Given the description of an element on the screen output the (x, y) to click on. 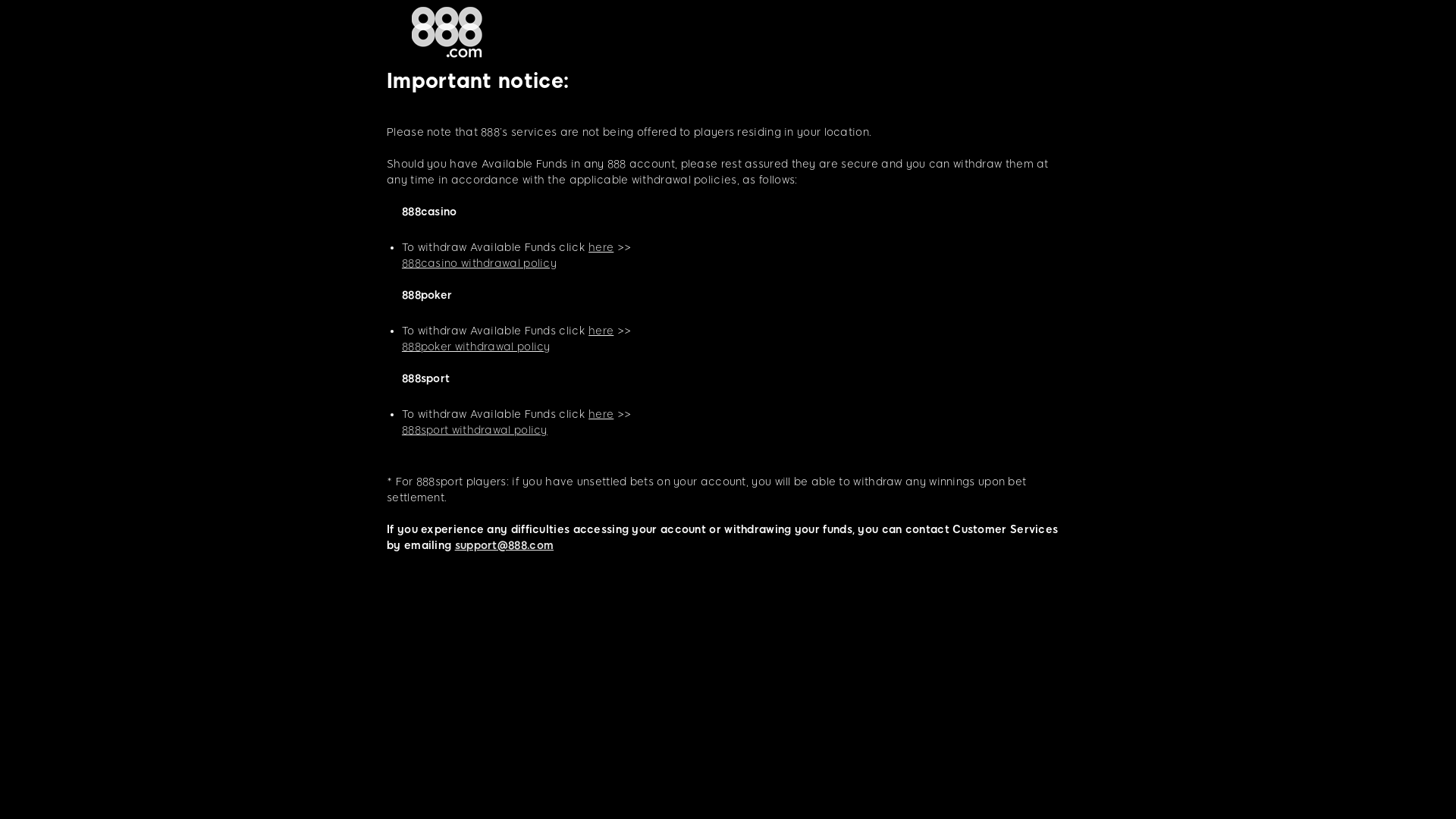
888poker withdrawal policy Element type: text (475, 346)
here Element type: text (600, 330)
here Element type: text (600, 413)
888casino withdrawal policy Element type: text (478, 263)
here Element type: text (600, 247)
support@888.com Element type: text (504, 545)
888sport withdrawal policy Element type: text (474, 429)
